Given the description of an element on the screen output the (x, y) to click on. 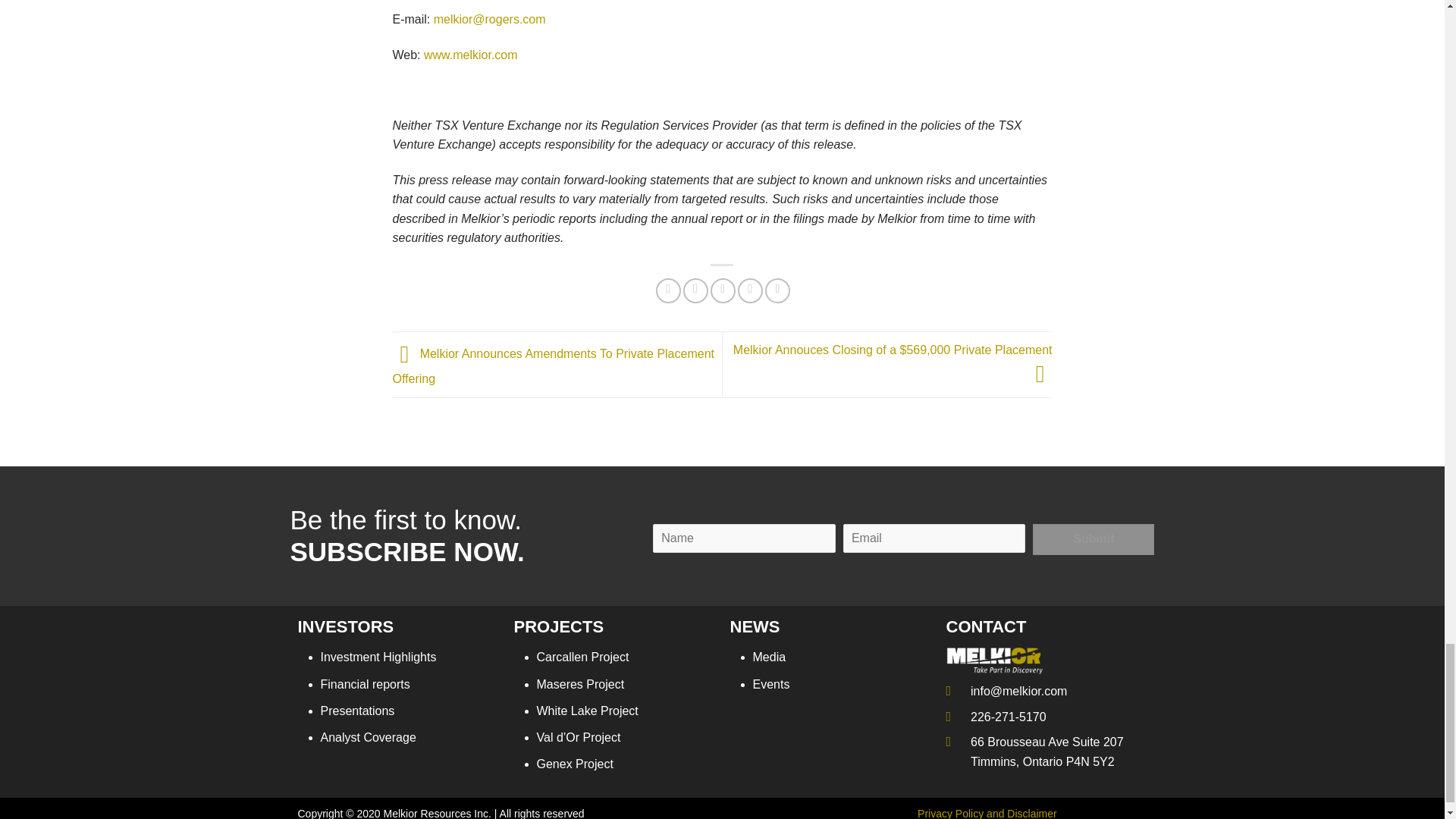
www.melkior.com (470, 54)
